Given the description of an element on the screen output the (x, y) to click on. 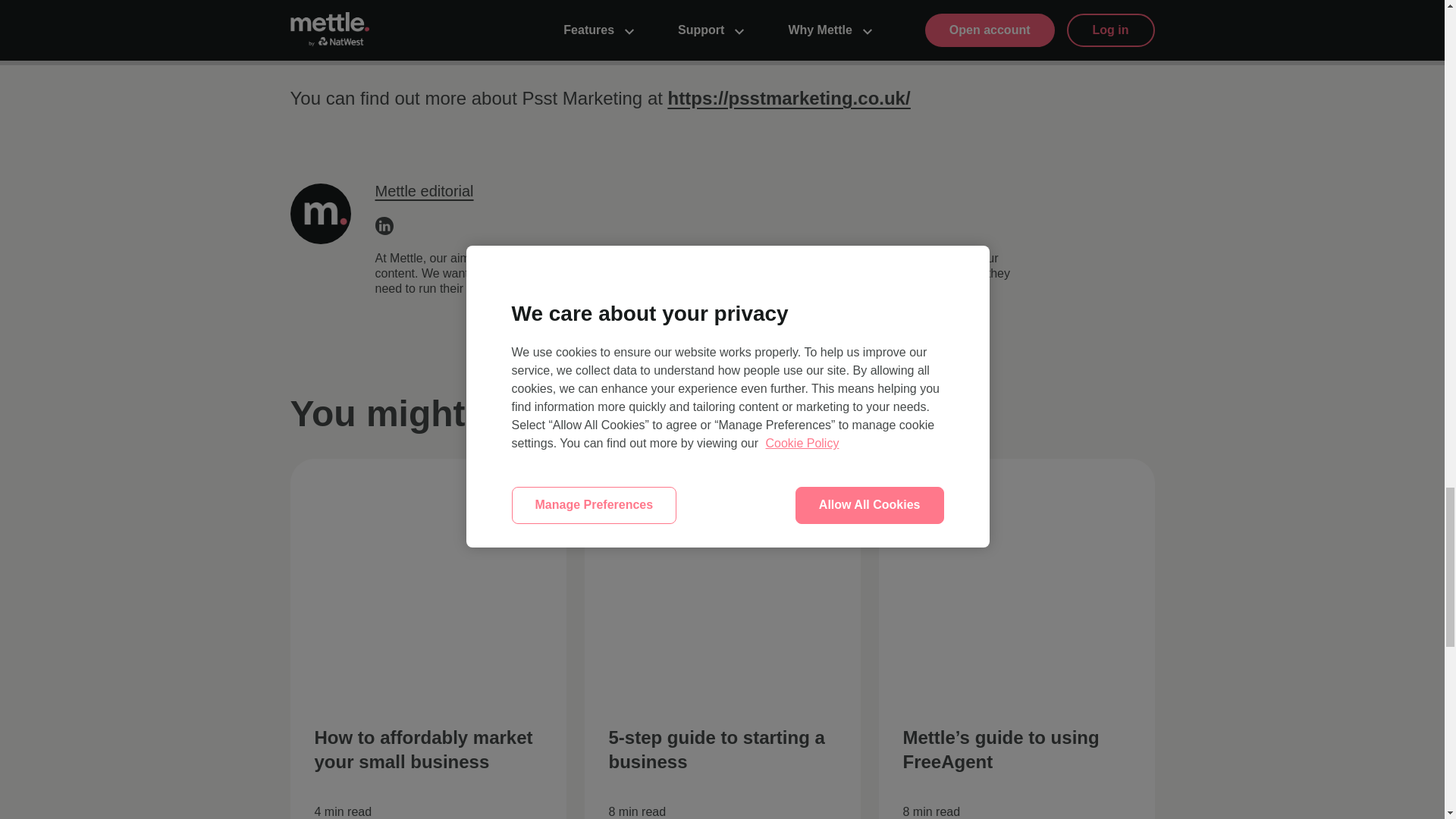
5-step guide to starting a business (716, 749)
Mettle editorial (423, 190)
How to affordably market your small business (423, 749)
Mettle editorial (423, 190)
linkedIn profile for Mettle editorial (383, 230)
